Given the description of an element on the screen output the (x, y) to click on. 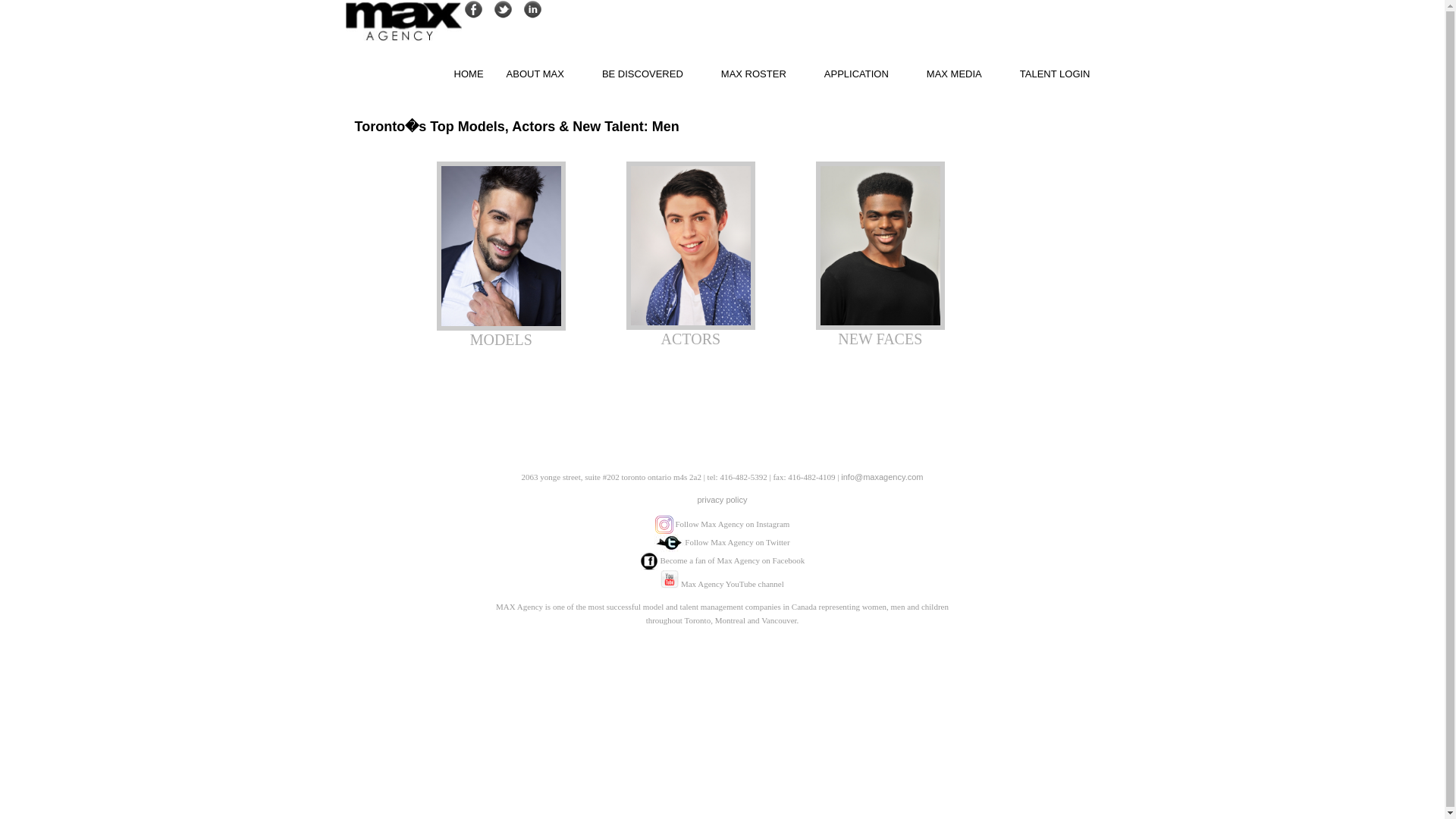
HOME (468, 73)
BOOKING INFORMATION (543, 210)
CONTACT US (543, 244)
JOB OPPORTUNITIES APPLICATION (863, 141)
ABOUT MAX (543, 73)
TALENT LOGIN (1055, 73)
FAQ (650, 141)
MAX ROSTER (761, 73)
OUR BLOG (962, 107)
MANAGEMENT AGREEMENT (543, 141)
KIDS (761, 175)
MAX MEDIA (962, 73)
MAX GLOBAL SCOUTING (650, 210)
BE DISCOVERED (650, 73)
WHAT WE LOOK FOR (650, 175)
